Given the description of an element on the screen output the (x, y) to click on. 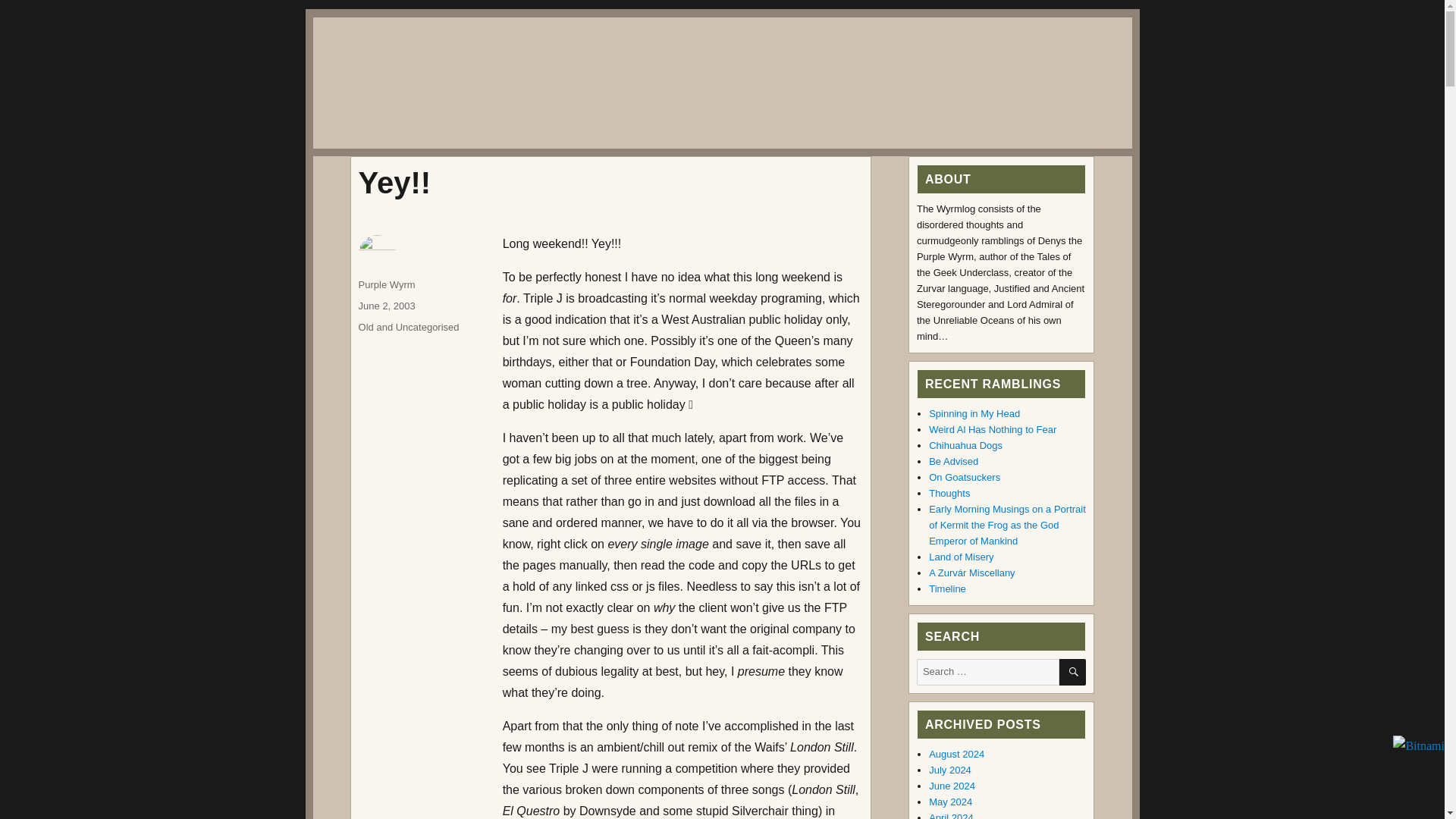
June 2, 2003 (386, 306)
Purple Wyrm (386, 284)
Old and Uncategorised (409, 326)
